Given the description of an element on the screen output the (x, y) to click on. 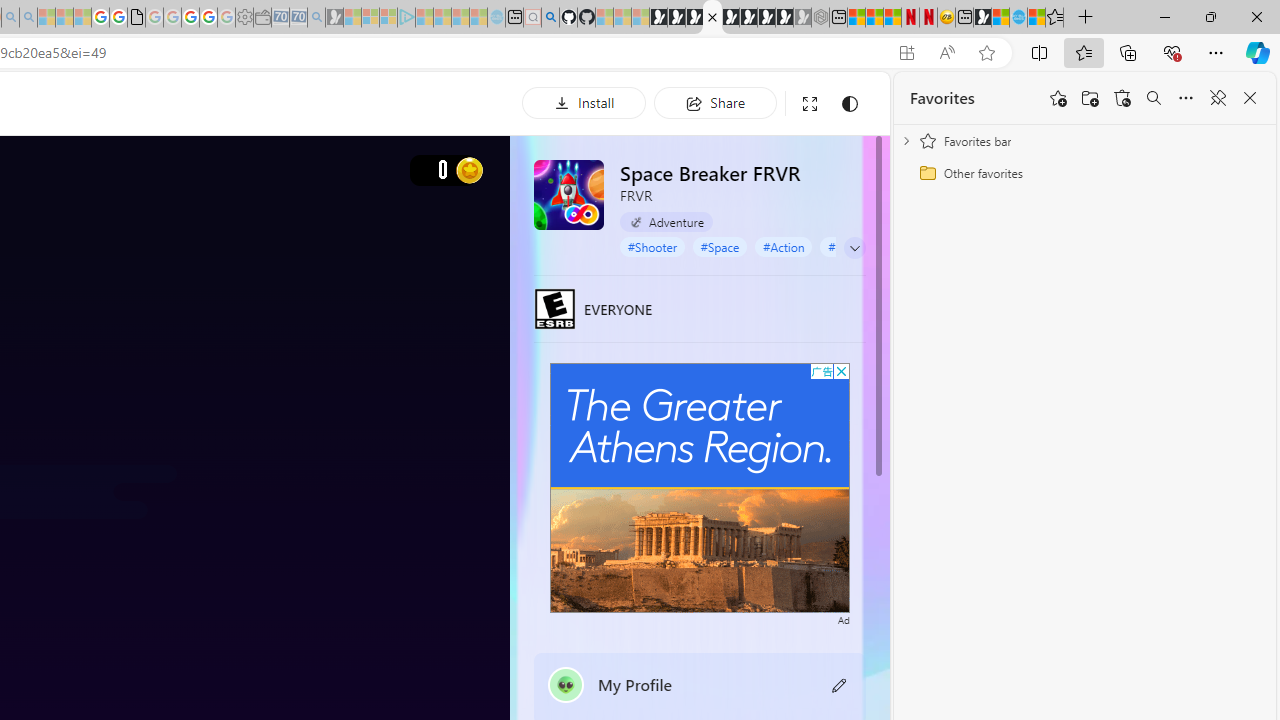
Space Breaker FRVR (568, 194)
#Space (719, 246)
App available. Install Space Breaker FRVR (906, 53)
Restore deleted favorites (1122, 98)
Search favorites (1153, 98)
